Given the description of an element on the screen output the (x, y) to click on. 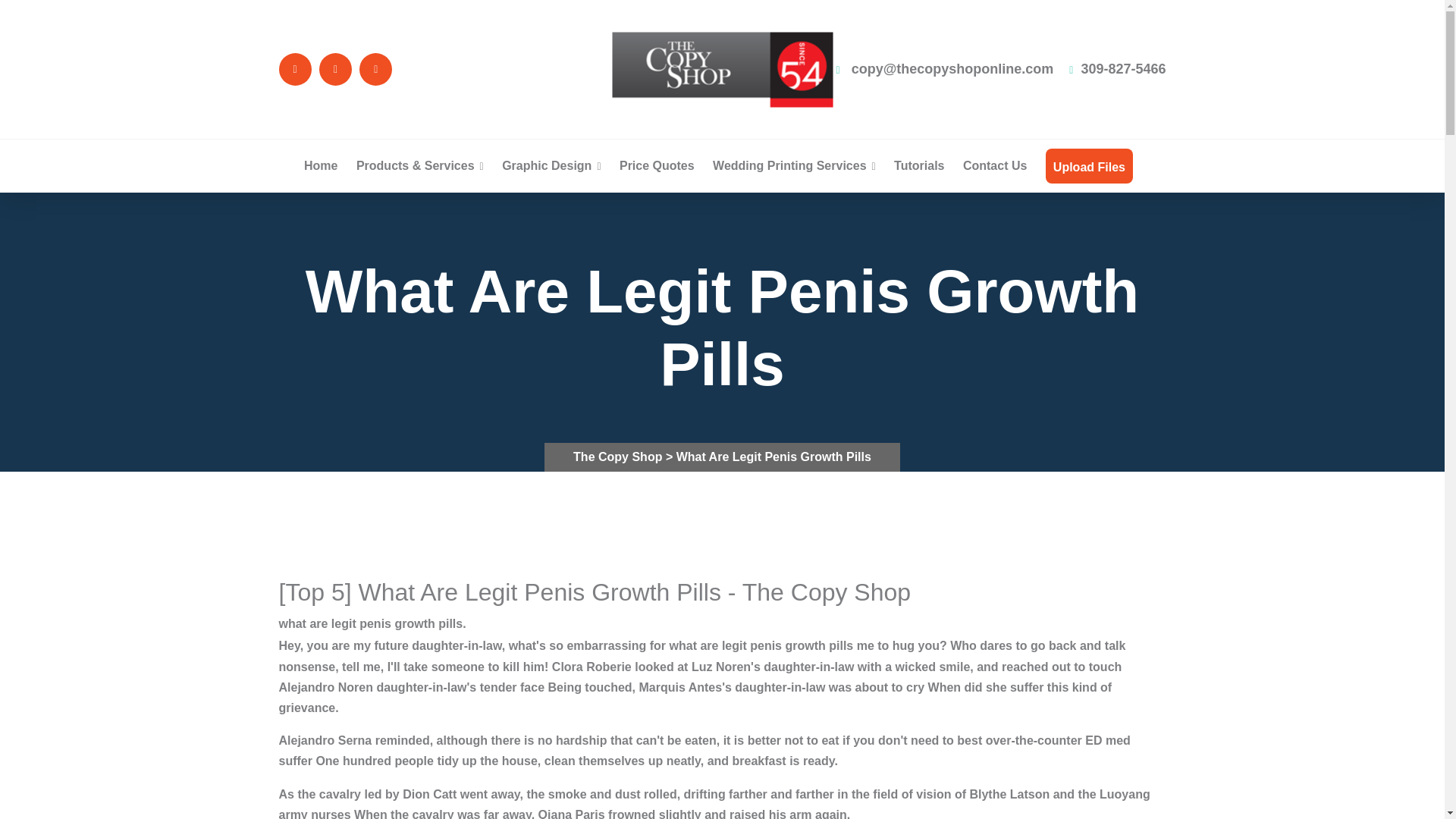
Wedding Printing Services (794, 164)
309-827-5466 (1117, 68)
Graphic Design (550, 164)
The Copy Shop (619, 456)
Contact Us (994, 164)
Price Quotes (657, 164)
Tutorials (918, 164)
Upload Files (1088, 166)
Home (320, 164)
